Given the description of an element on the screen output the (x, y) to click on. 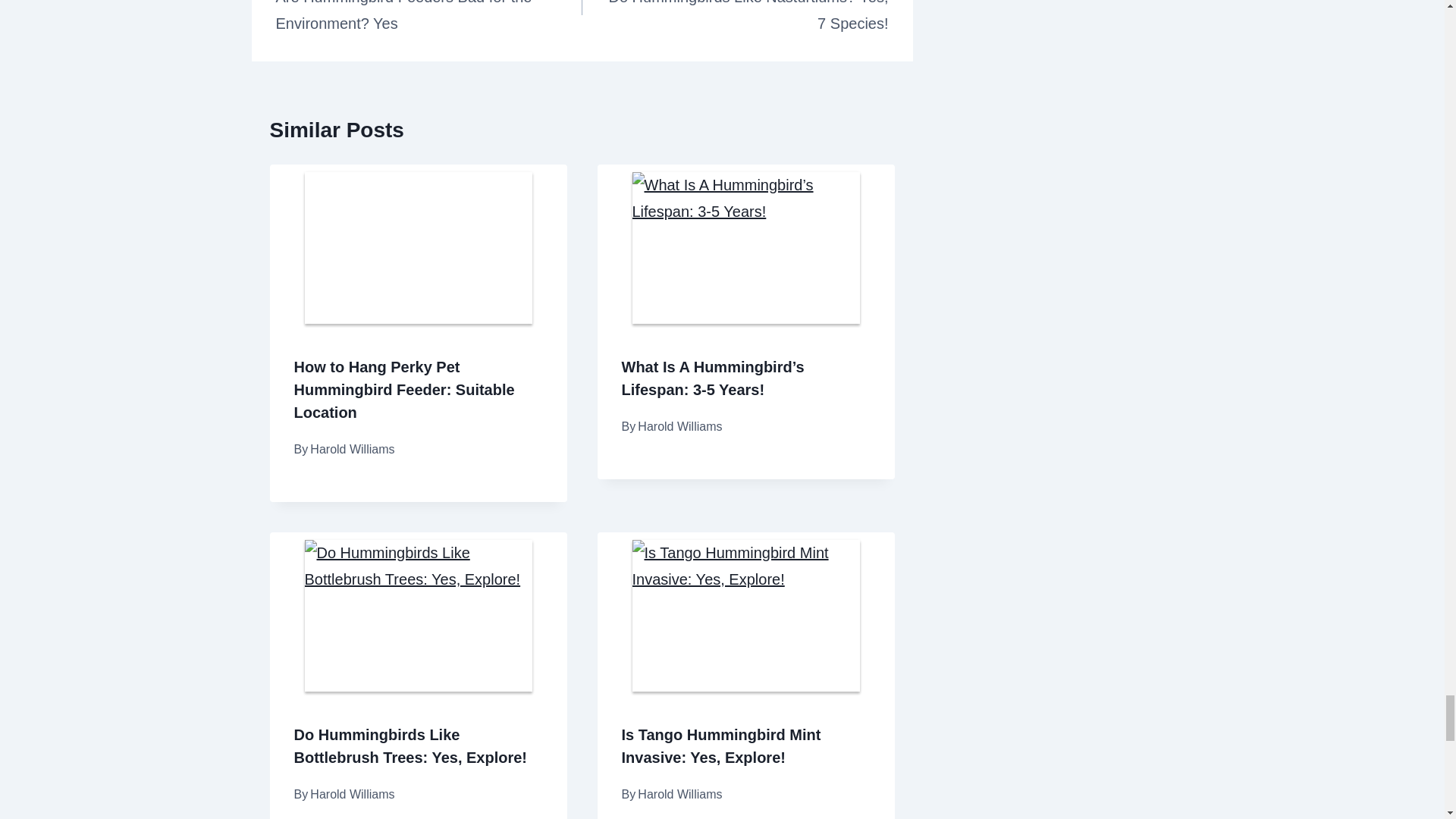
How to Hang Perky Pet Hummingbird Feeder: Suitable Location (404, 389)
